Given the description of an element on the screen output the (x, y) to click on. 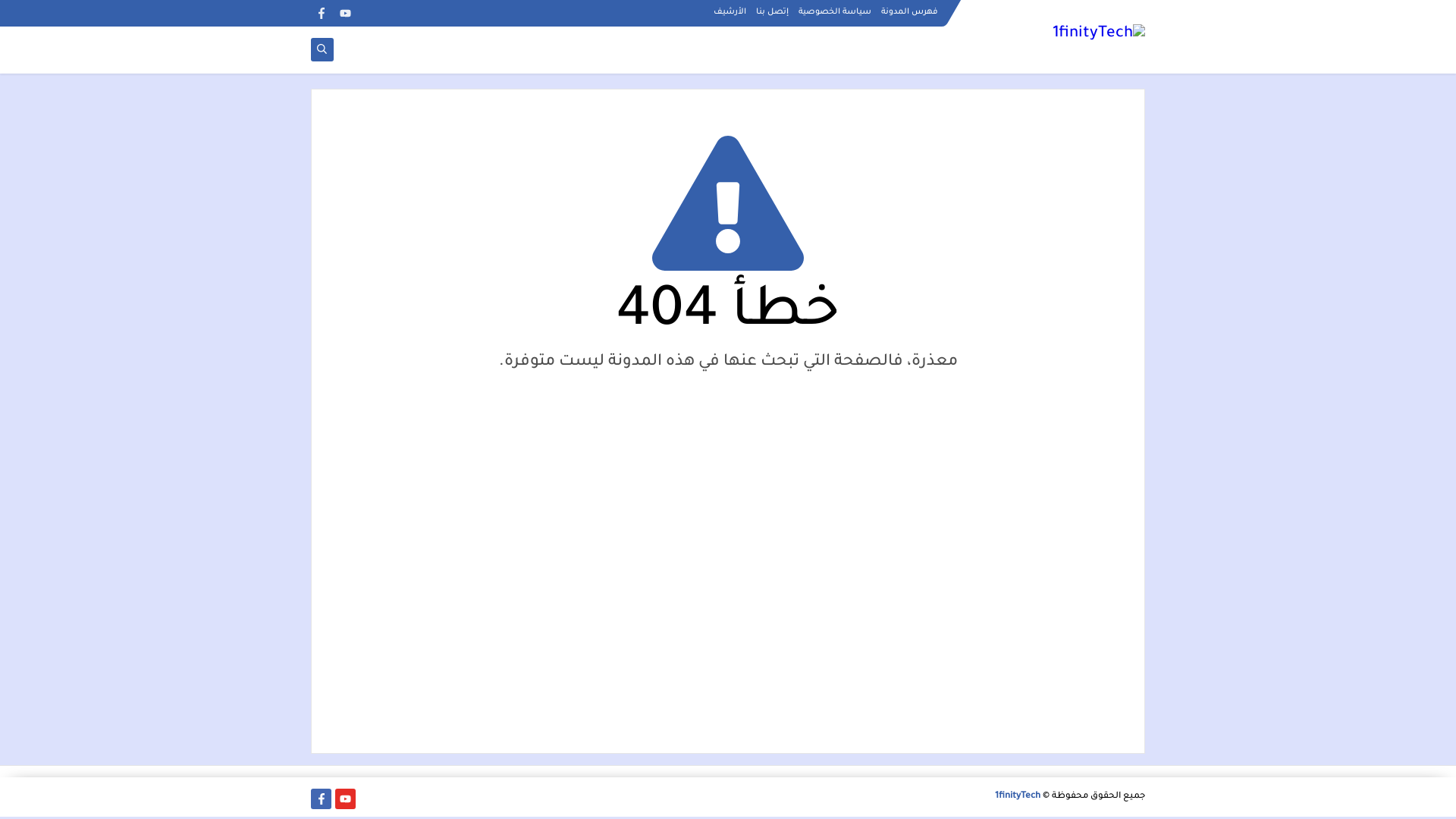
youtube Element type: hover (345, 798)
facebook Element type: hover (320, 13)
1finityTech Element type: text (1017, 796)
youtube Element type: hover (345, 13)
facebook Element type: hover (320, 798)
